Given the description of an element on the screen output the (x, y) to click on. 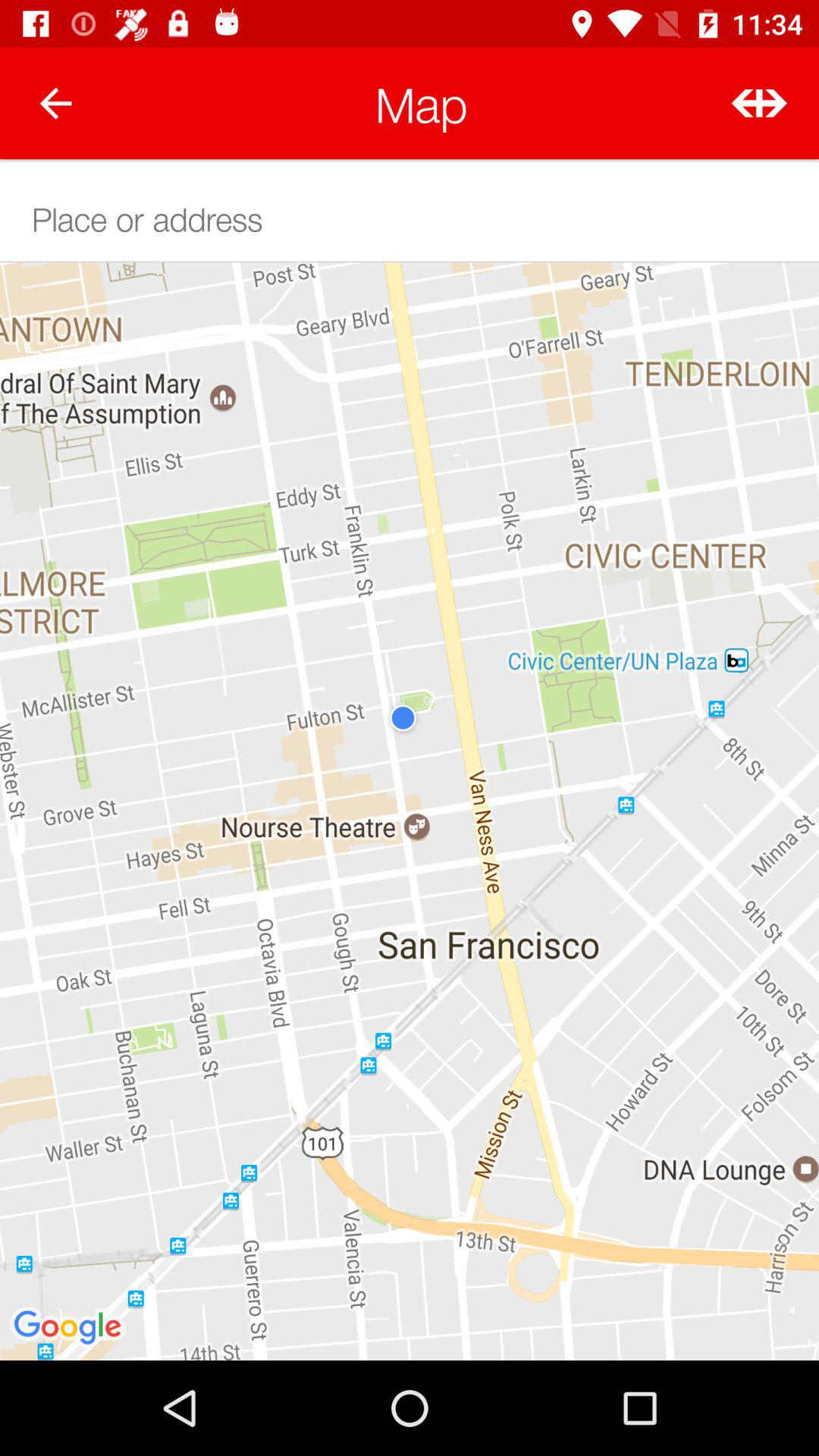
input address (409, 216)
